Given the description of an element on the screen output the (x, y) to click on. 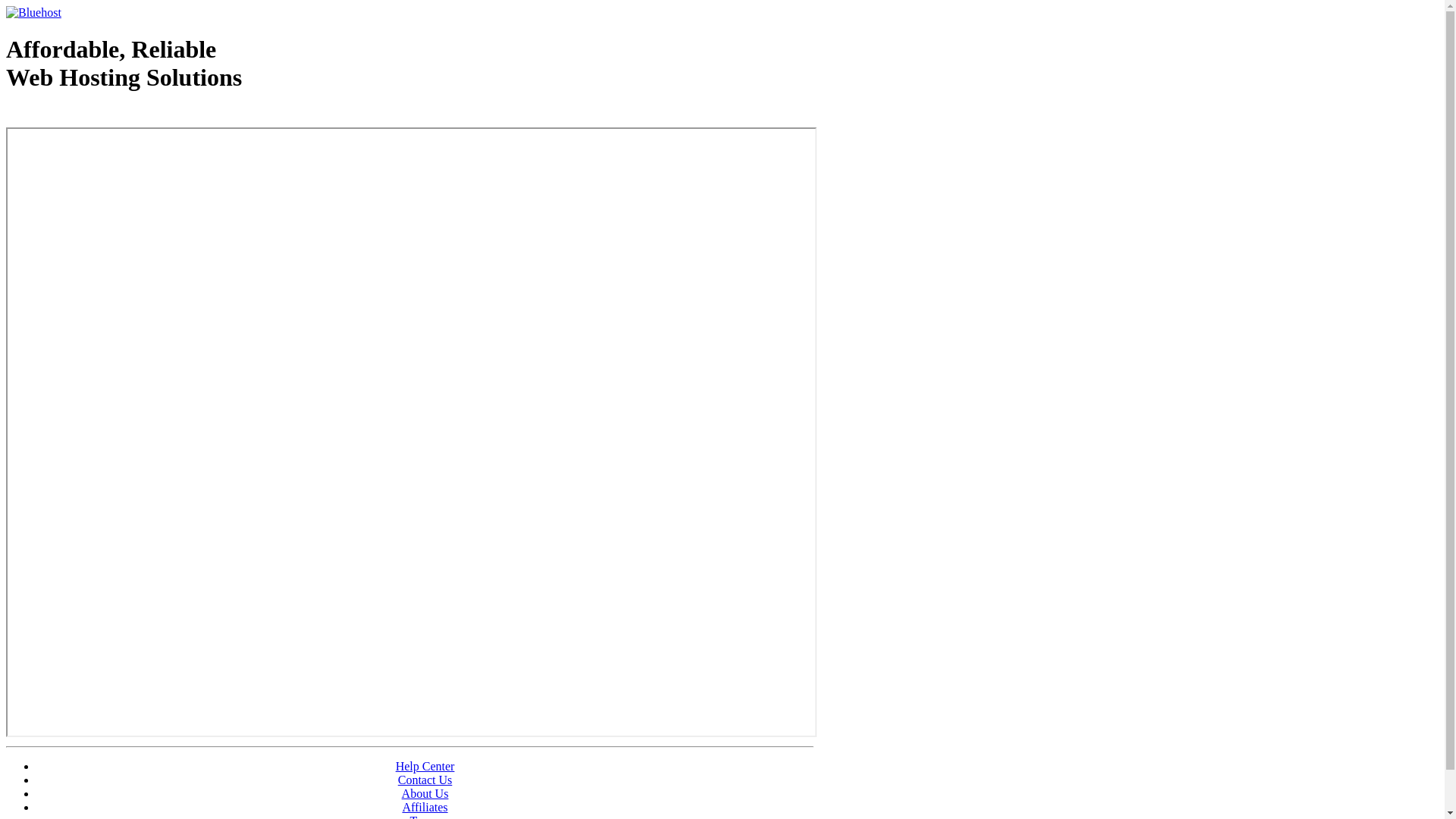
Affiliates Element type: text (424, 806)
About Us Element type: text (424, 793)
Contact Us Element type: text (425, 779)
Web Hosting - courtesy of www.bluehost.com Element type: text (94, 115)
Help Center Element type: text (425, 765)
